Given the description of an element on the screen output the (x, y) to click on. 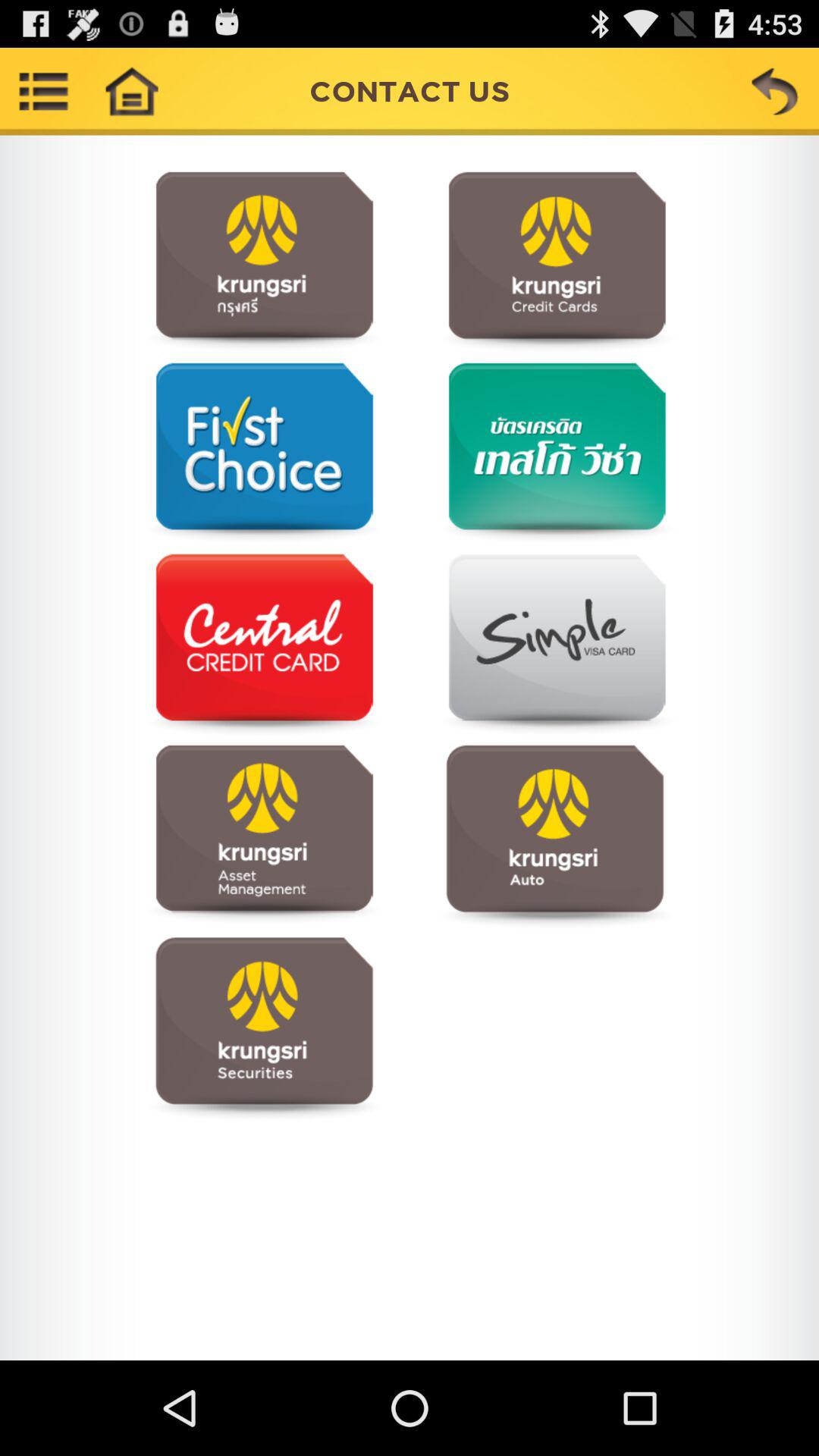
open page (263, 1026)
